Given the description of an element on the screen output the (x, y) to click on. 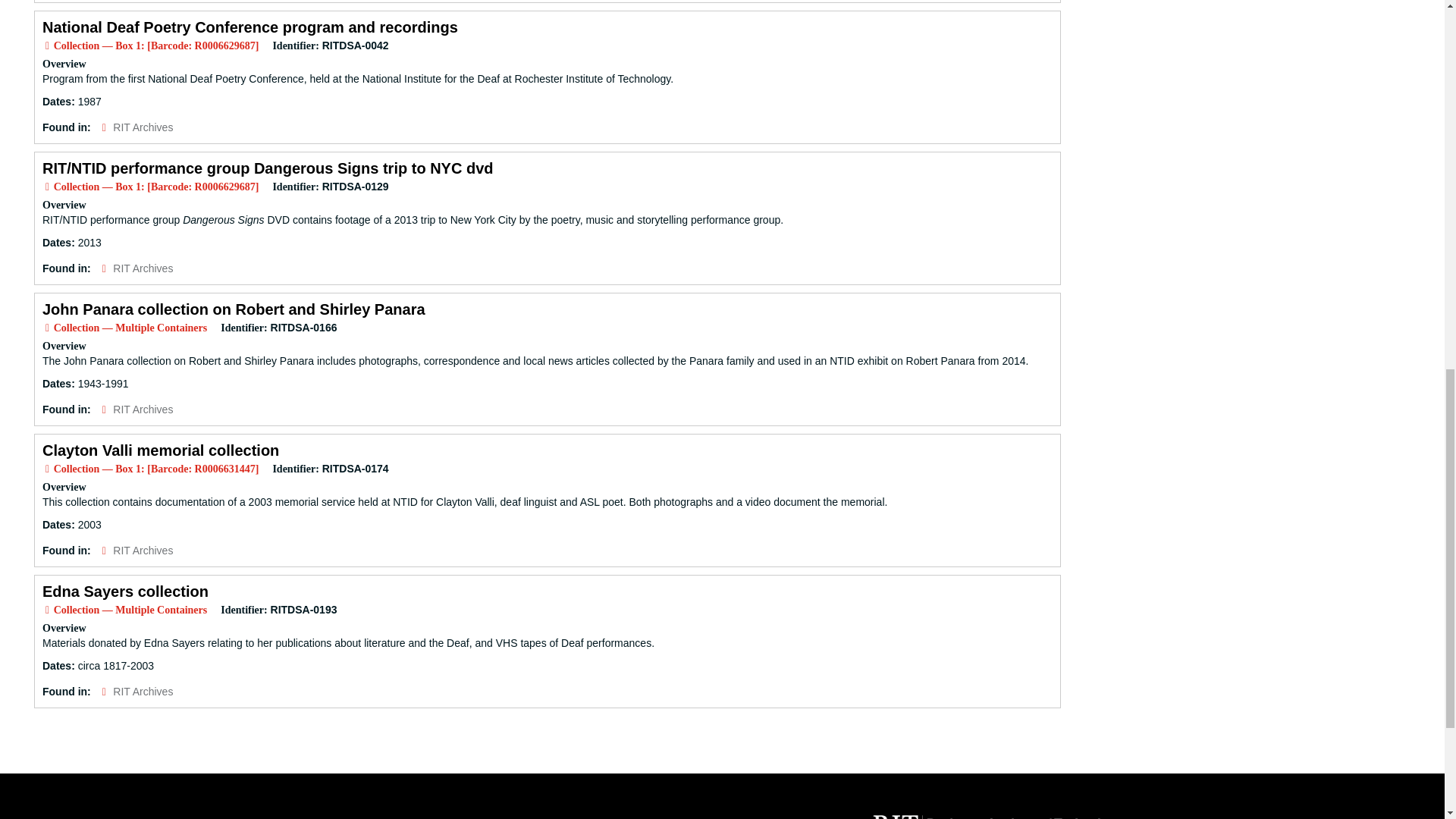
RIT Archives (143, 409)
RIT Archives (143, 691)
RIT Archives (143, 127)
RIT Archives (143, 268)
Edna Sayers collection (125, 591)
National Deaf Poetry Conference program and recordings (250, 27)
Clayton Valli memorial collection (160, 450)
RIT Archives (143, 550)
John Panara collection on Robert and Shirley Panara (233, 309)
